Given the description of an element on the screen output the (x, y) to click on. 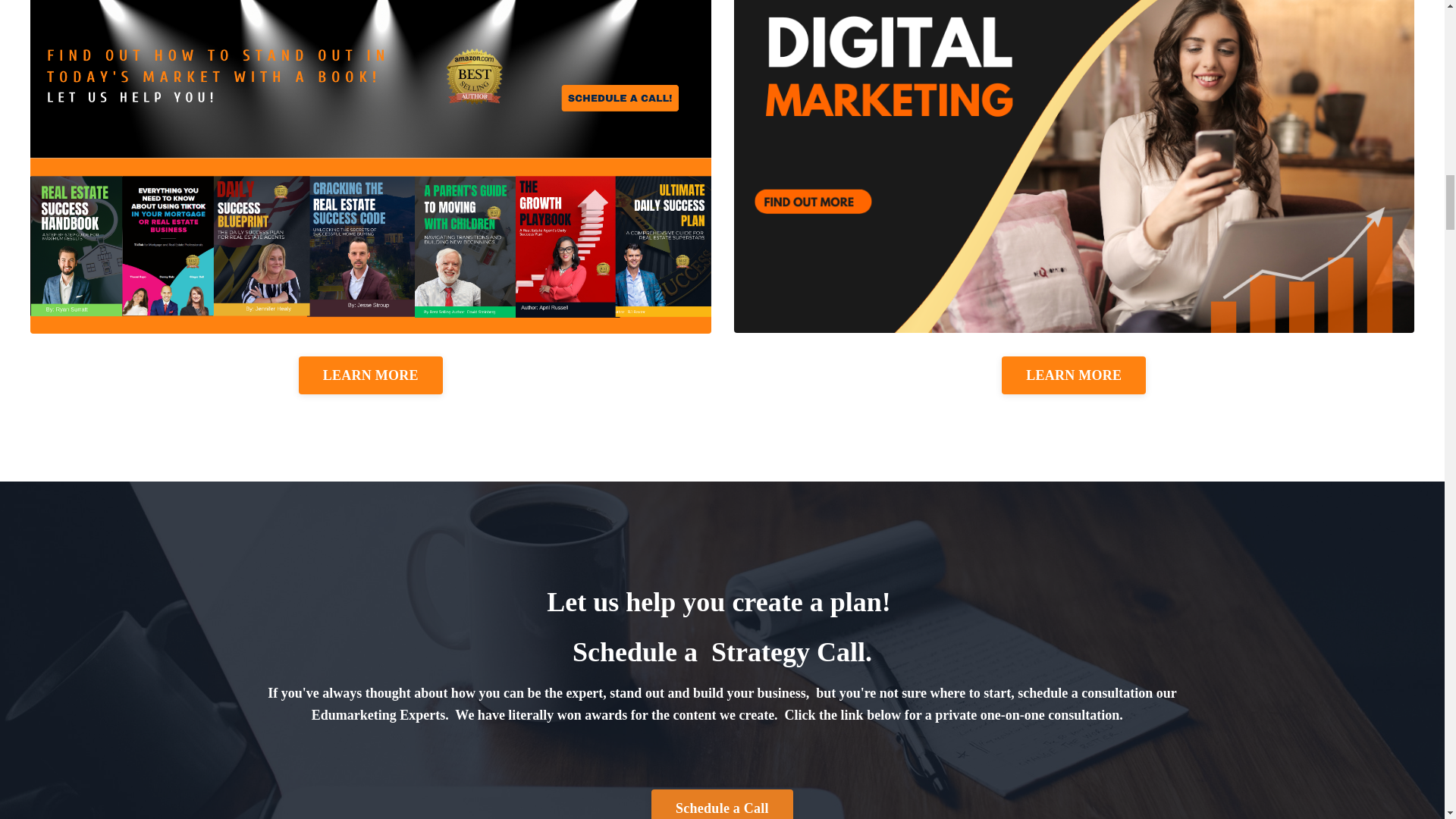
LEARN MORE (370, 374)
LEARN MORE (1073, 374)
